Given the description of an element on the screen output the (x, y) to click on. 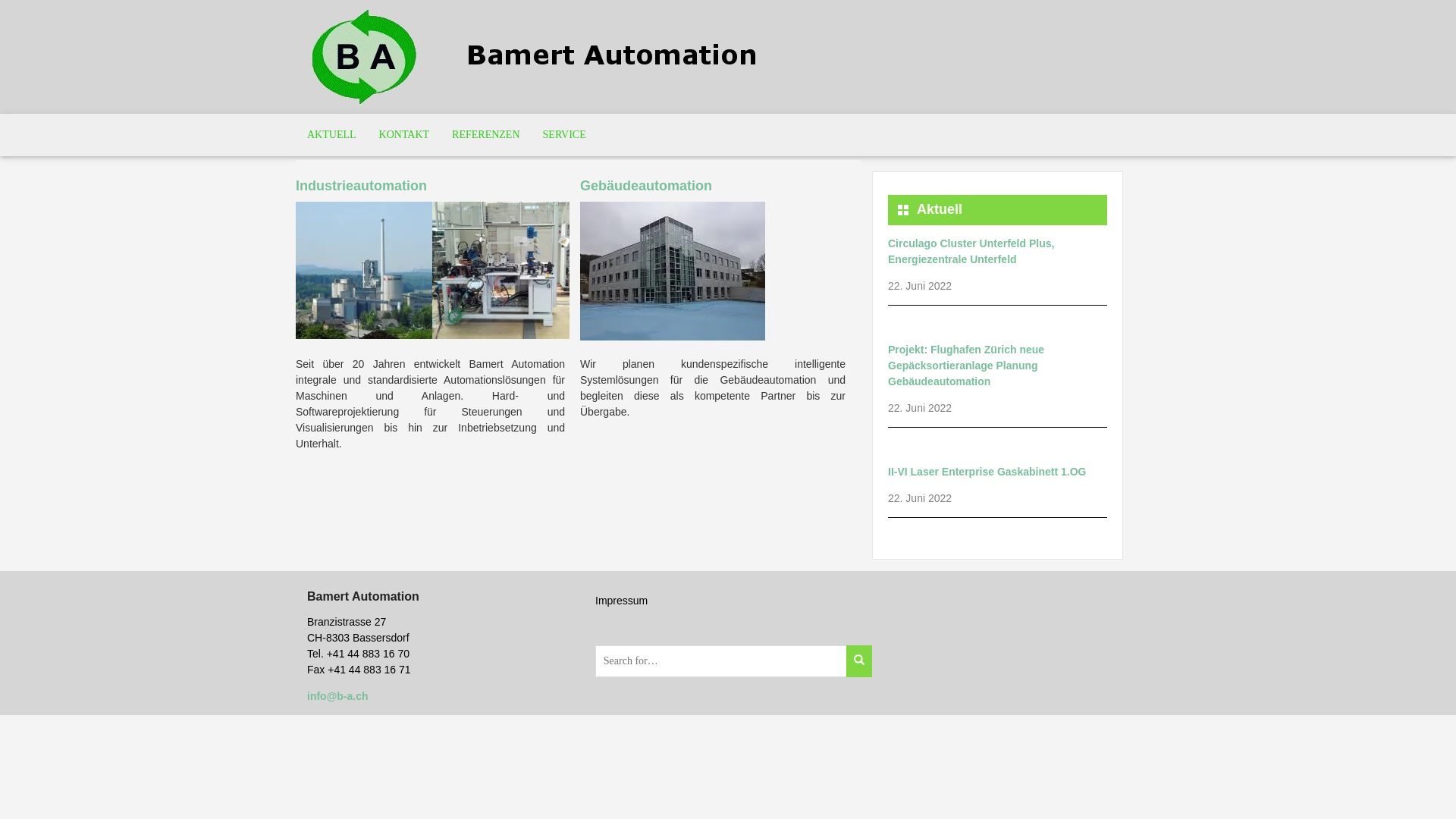
SERVICE Element type: text (564, 134)
KONTAKT Element type: text (404, 134)
REFERENZEN Element type: text (485, 134)
II-VI Laser Enterprise Gaskabinett 1.OG Element type: text (986, 471)
info@b-a.ch Element type: text (337, 696)
Bamert Automation Element type: hover (537, 55)
Circulago Cluster Unterfeld Plus, Energiezentrale Unterfeld Element type: text (971, 251)
Impressum Element type: text (621, 600)
AKTUELL Element type: text (331, 134)
